Given the description of an element on the screen output the (x, y) to click on. 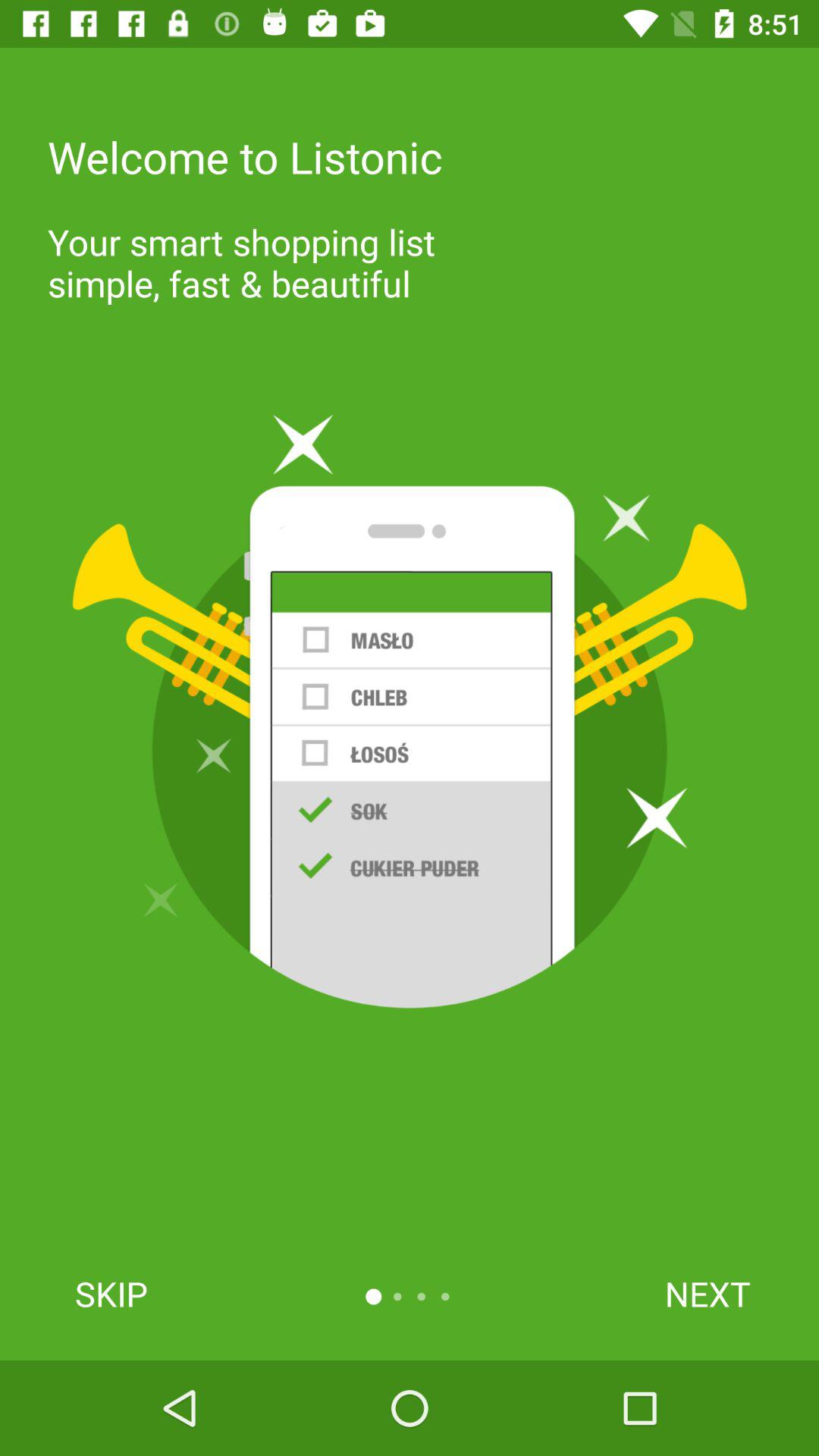
choose the icon at the bottom left corner (111, 1293)
